Given the description of an element on the screen output the (x, y) to click on. 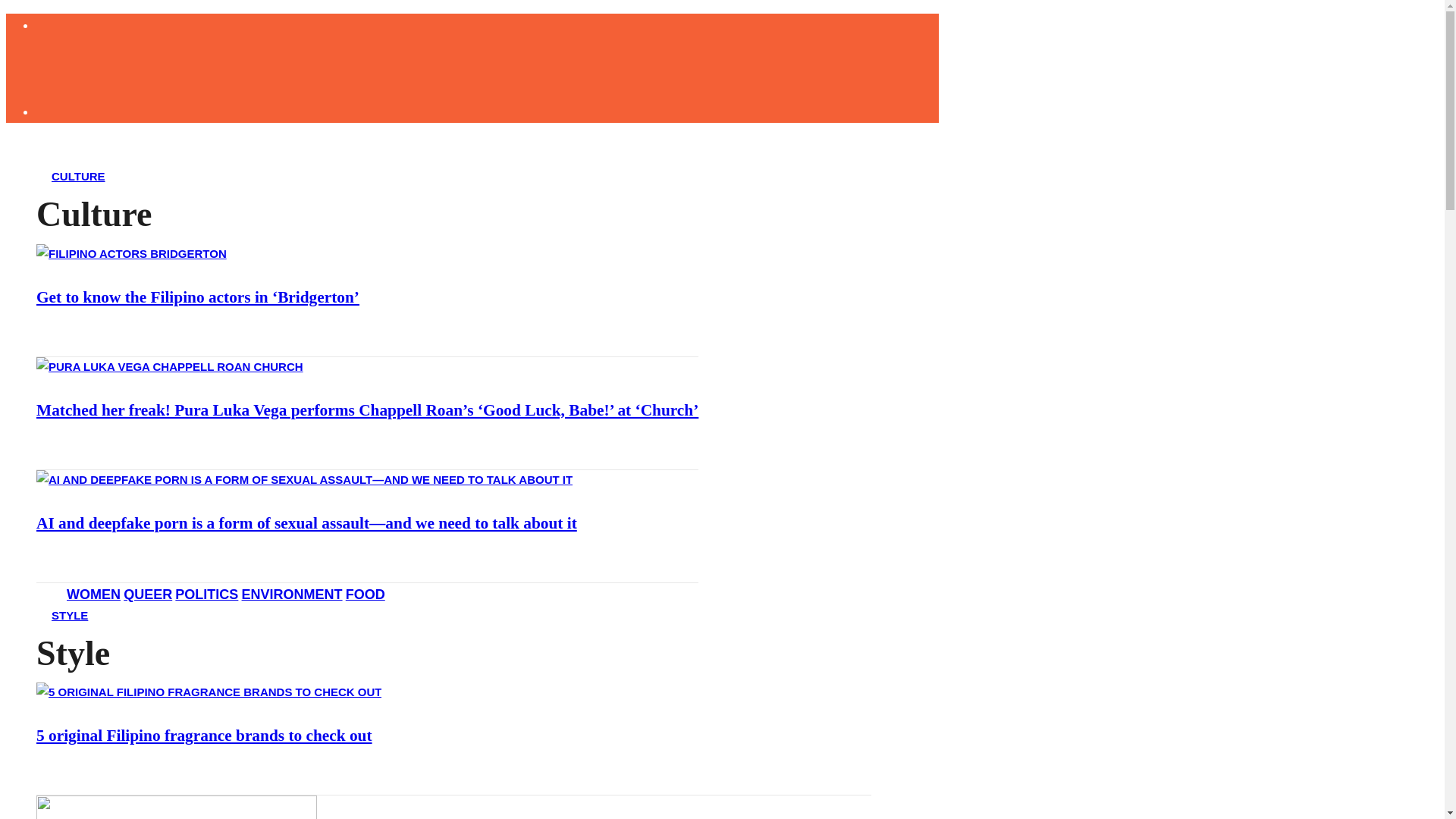
ENVIRONMENT (291, 594)
5 original Filipino fragrance brands to check out (204, 735)
CULTURE (78, 174)
FOOD (365, 594)
QUEER (147, 594)
POLITICS (206, 594)
STYLE (69, 613)
WOMEN (93, 594)
